Given the description of an element on the screen output the (x, y) to click on. 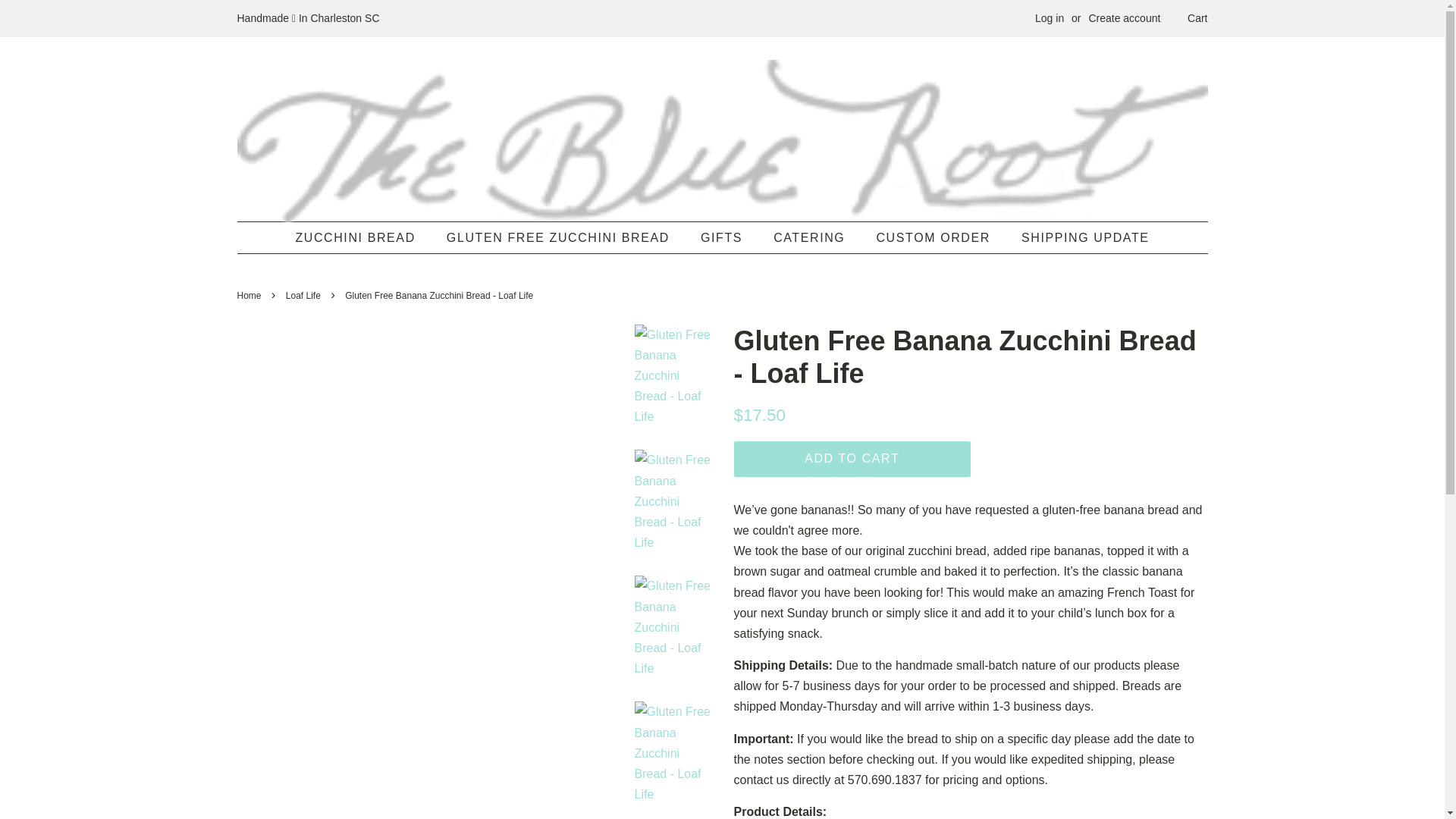
ZUCCHINI BREAD (362, 237)
ADD TO CART (852, 458)
CATERING (810, 237)
CUSTOM ORDER (934, 237)
GIFTS (722, 237)
SHIPPING UPDATE (1080, 237)
Log in (1049, 18)
Home (249, 295)
Back to the frontpage (249, 295)
Cart (1197, 18)
